Given the description of an element on the screen output the (x, y) to click on. 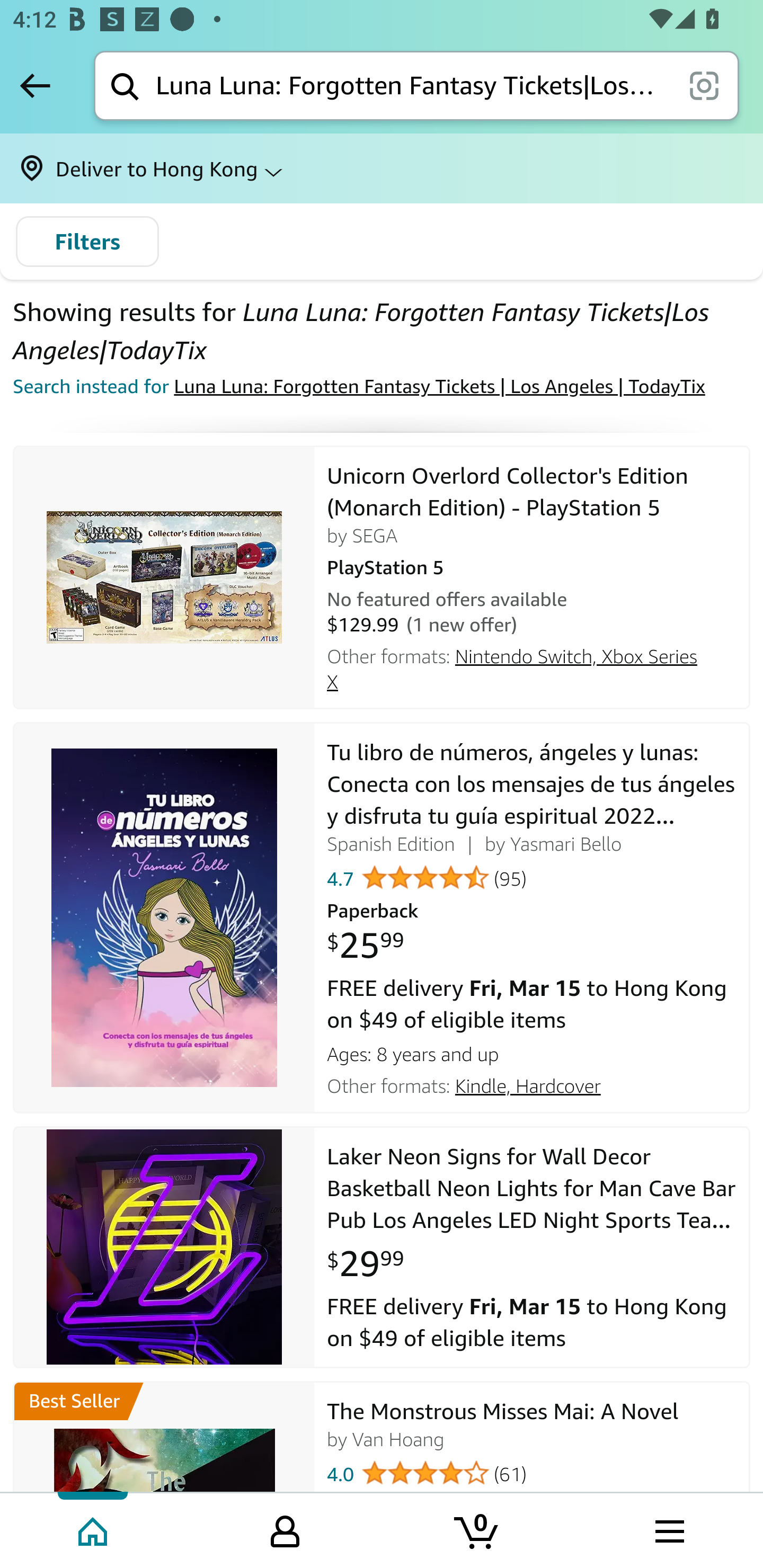
Back (35, 85)
scan it (704, 85)
Deliver to Hong Kong ⌵ (381, 168)
Filters (87, 241)
PlayStation 5 (532, 564)
Ages: 8 years and up (532, 1050)
Home Tab 1 of 4 (94, 1529)
Your Amazon.com Tab 2 of 4 (285, 1529)
Cart 0 item Tab 3 of 4 0 (477, 1529)
Browse menu Tab 4 of 4 (668, 1529)
